Given the description of an element on the screen output the (x, y) to click on. 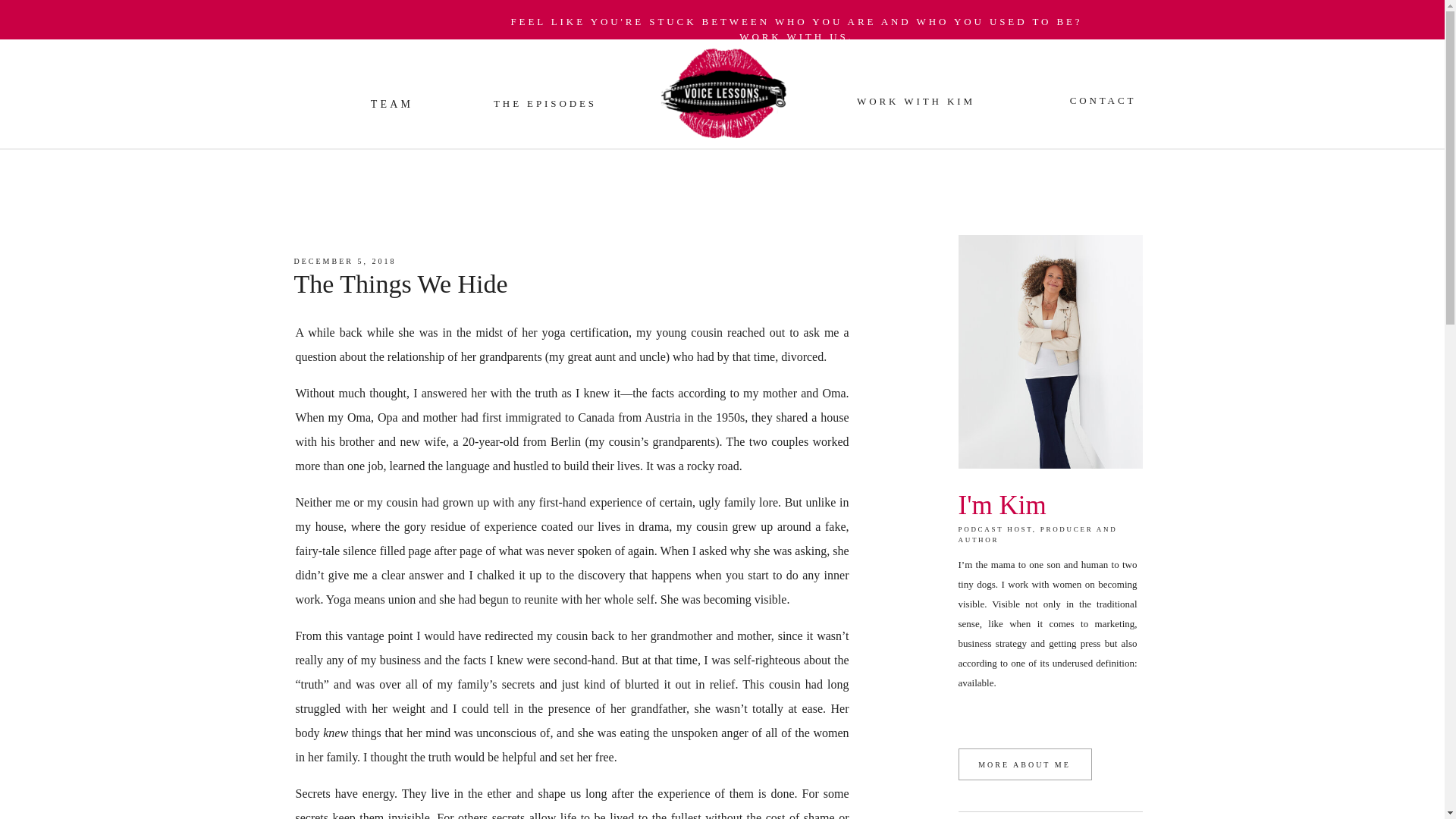
WORK WITH KIM (915, 100)
THE EPISODES (545, 102)
CONTACT (1102, 99)
MORE ABOUT ME (1024, 767)
TEAM (392, 102)
